Given the description of an element on the screen output the (x, y) to click on. 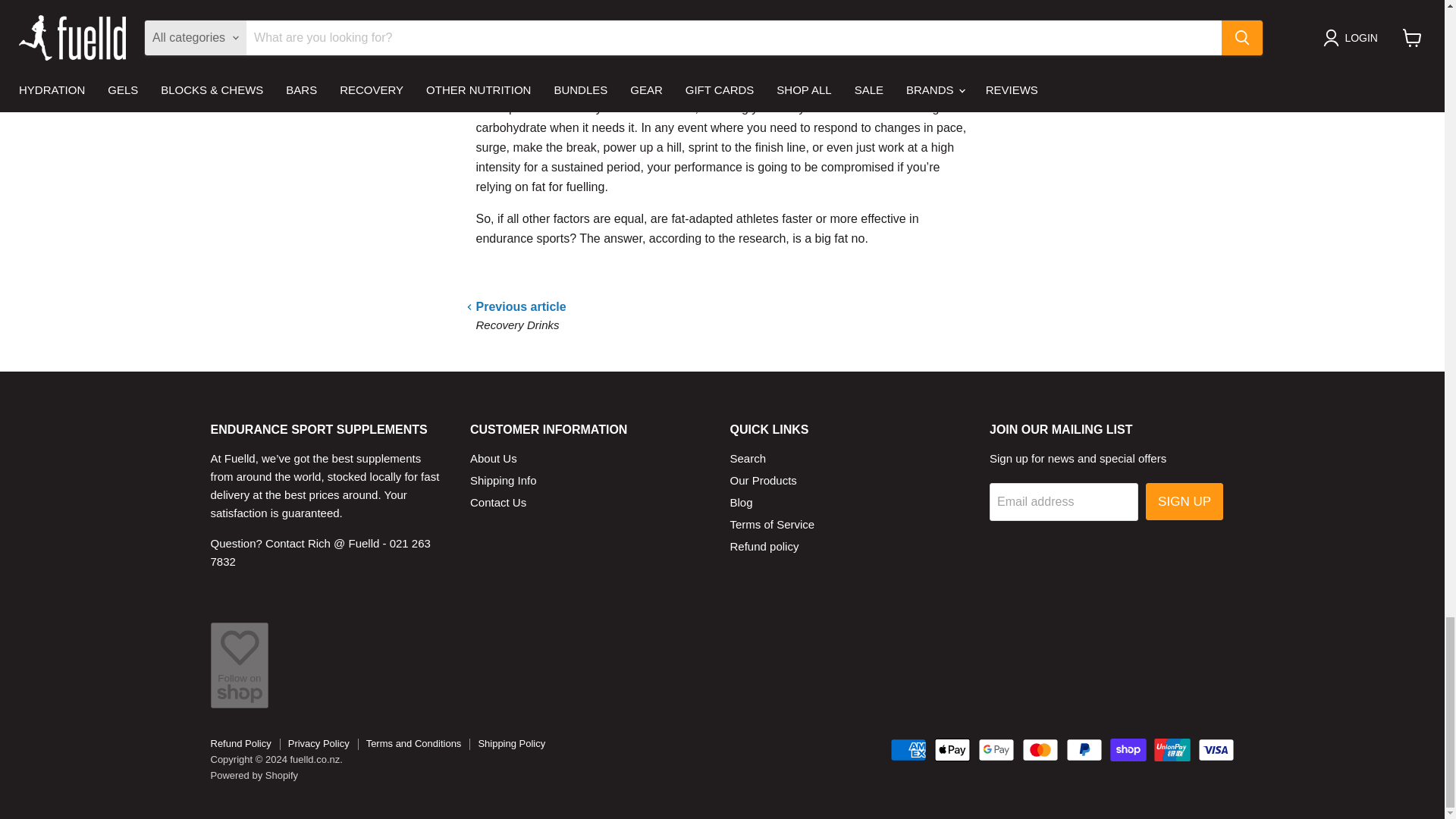
American Express (907, 749)
Shop Pay (1128, 749)
PayPal (1083, 749)
Visa (1216, 749)
Mastercard (1040, 749)
Google Pay (996, 749)
Apple Pay (952, 749)
Union Pay (1172, 749)
